Given the description of an element on the screen output the (x, y) to click on. 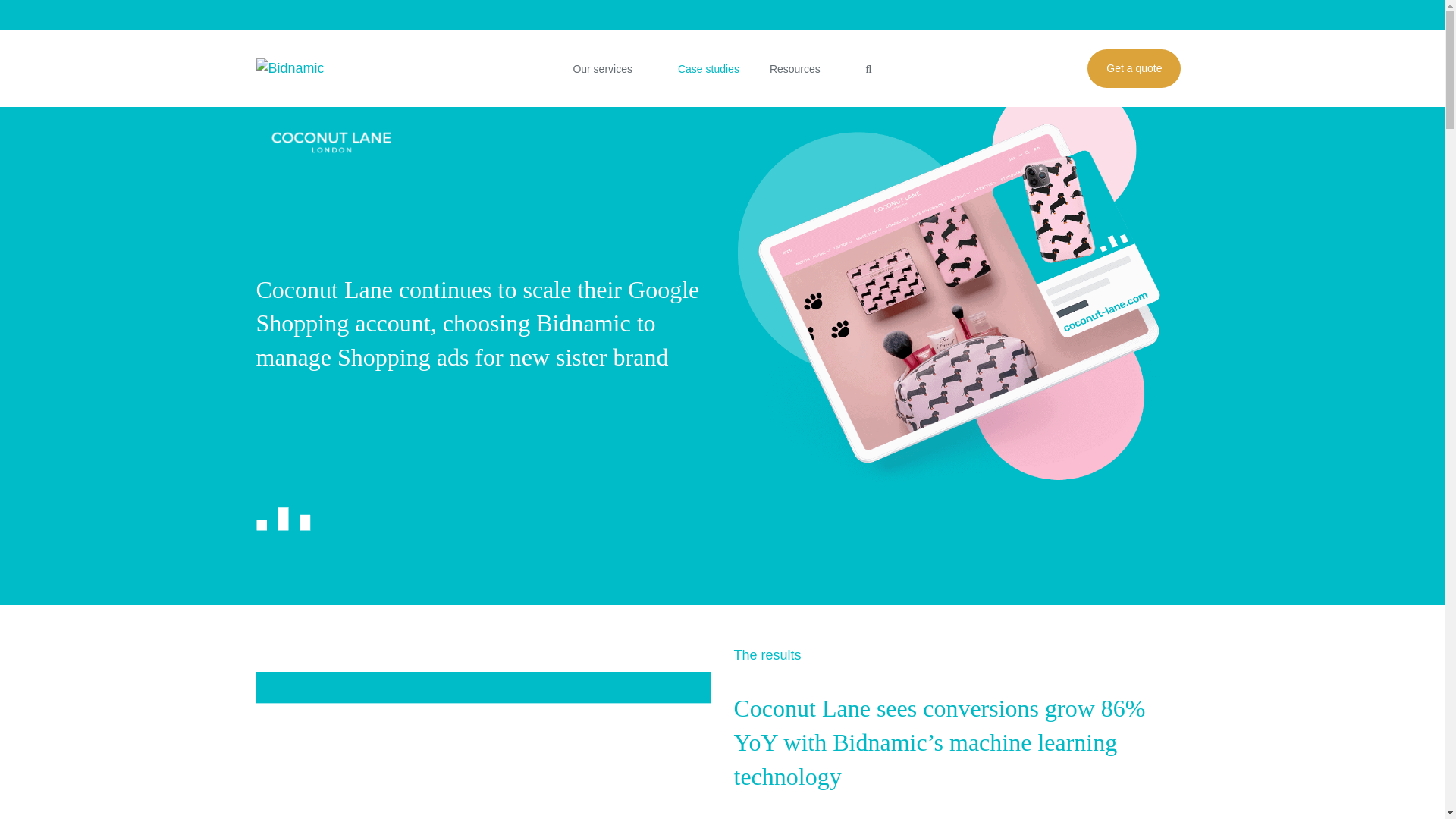
About (1163, 18)
Resources (802, 69)
Our services (609, 69)
Case studies (708, 69)
Home (269, 64)
Bidnamic (303, 68)
Case studies (327, 64)
Get a quote (1133, 68)
